Given the description of an element on the screen output the (x, y) to click on. 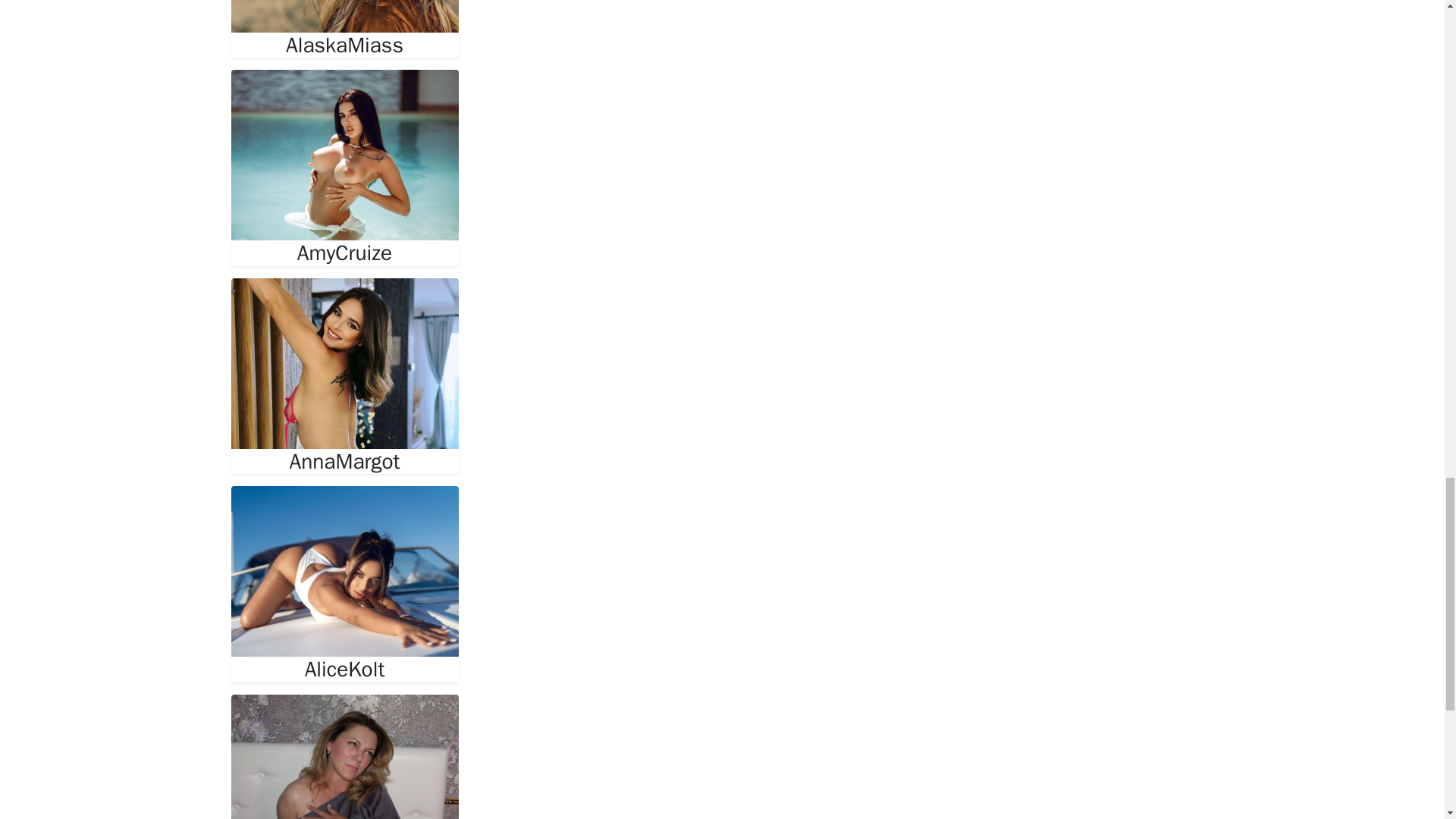
AnnaMargot (344, 461)
AmyCruize (344, 253)
AlaskaMiass (344, 45)
